Given the description of an element on the screen output the (x, y) to click on. 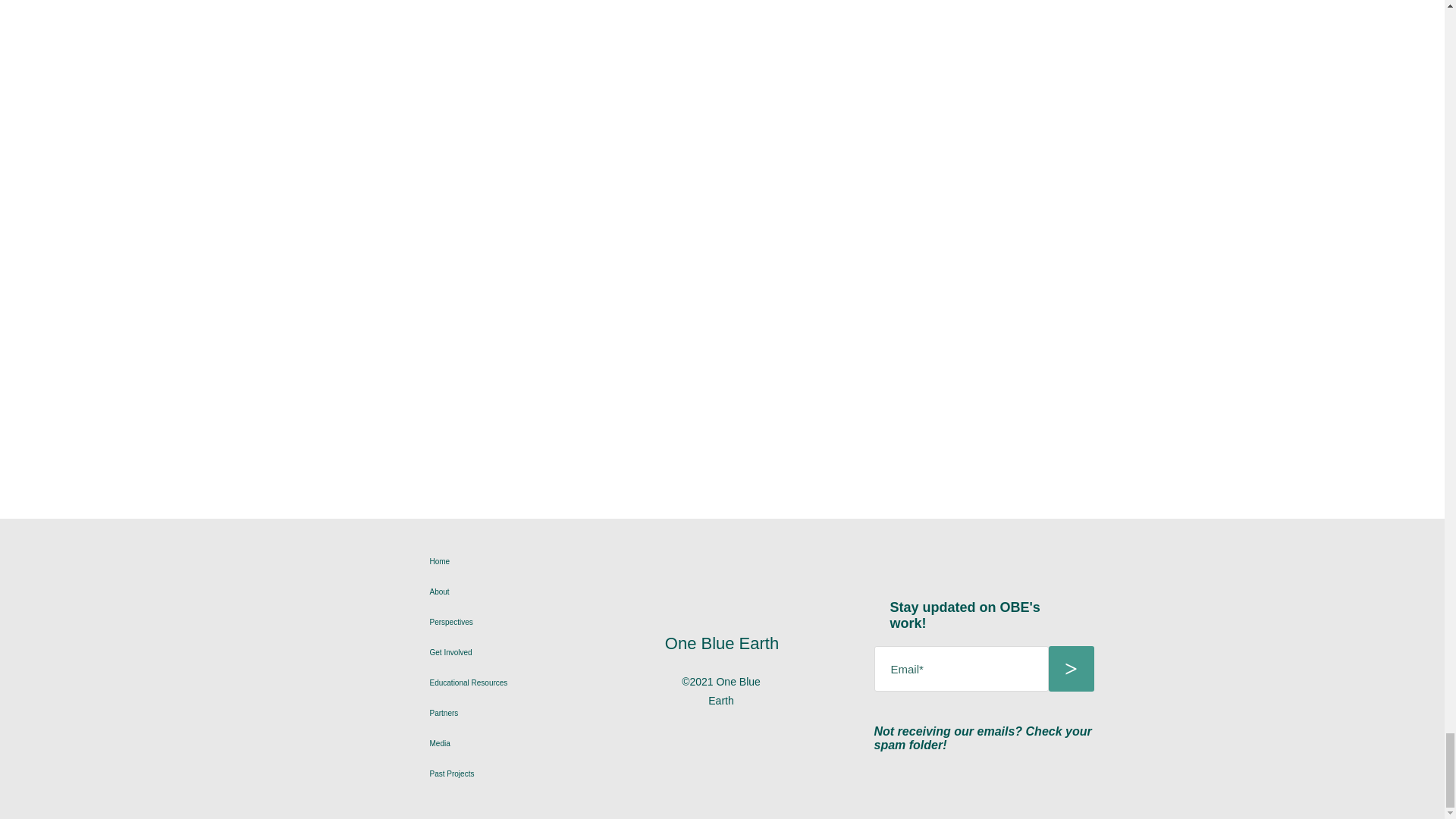
Home (553, 562)
Perspectives (553, 622)
Get Involved (553, 653)
Past Projects (553, 774)
One Blue Earth (721, 642)
Partners (553, 713)
Educational Resources (553, 683)
Media (553, 743)
About (553, 592)
